Given the description of an element on the screen output the (x, y) to click on. 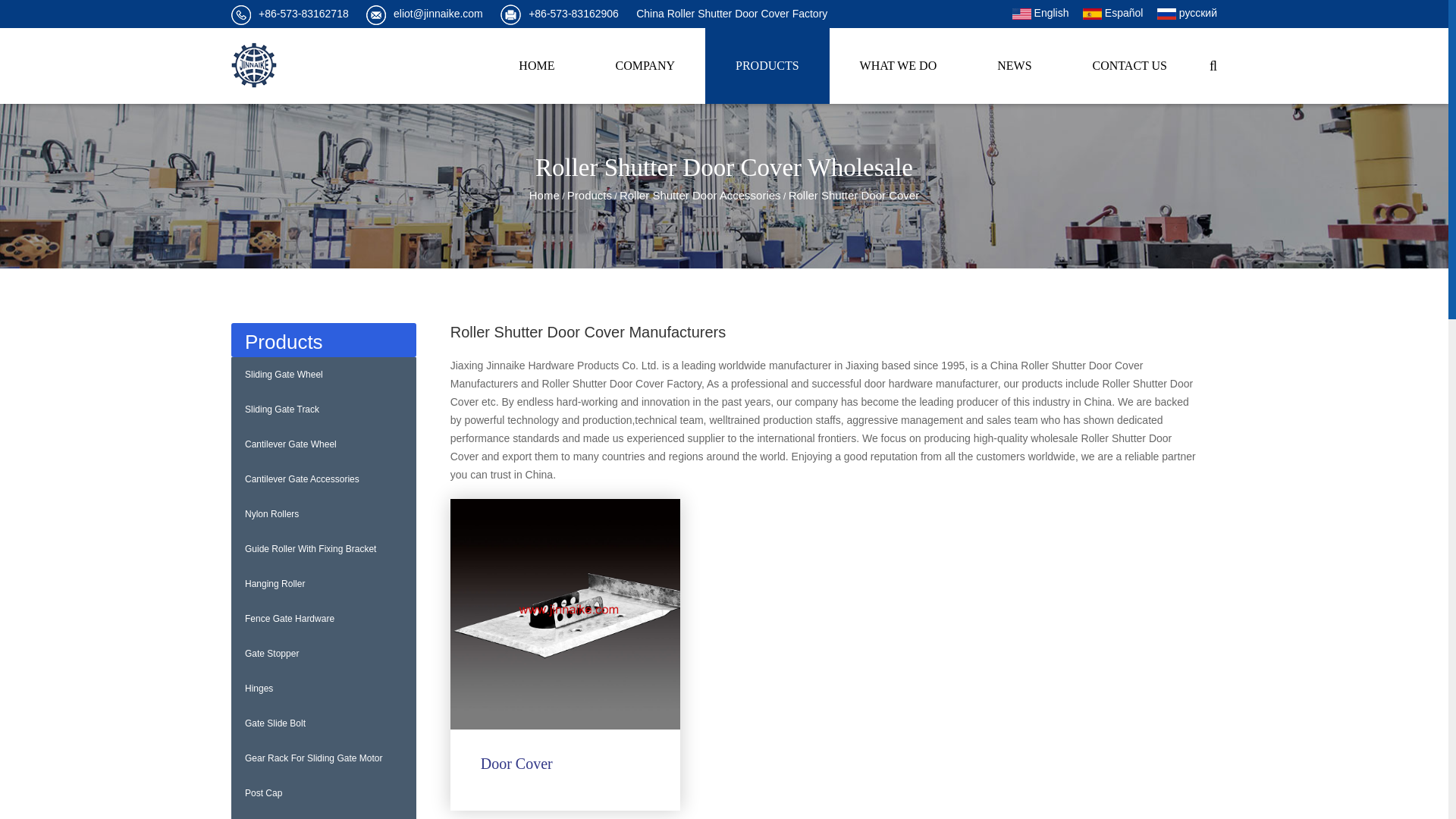
PRODUCTS (766, 65)
NEWS (1013, 65)
English (1039, 13)
China Roller Shutter Door Cover Factory (731, 13)
COMPANY (644, 65)
WHAT WE DO (898, 65)
HOME (536, 65)
Door Cover (565, 613)
Door Cover (565, 763)
CONTACT US (1129, 65)
